Given the description of an element on the screen output the (x, y) to click on. 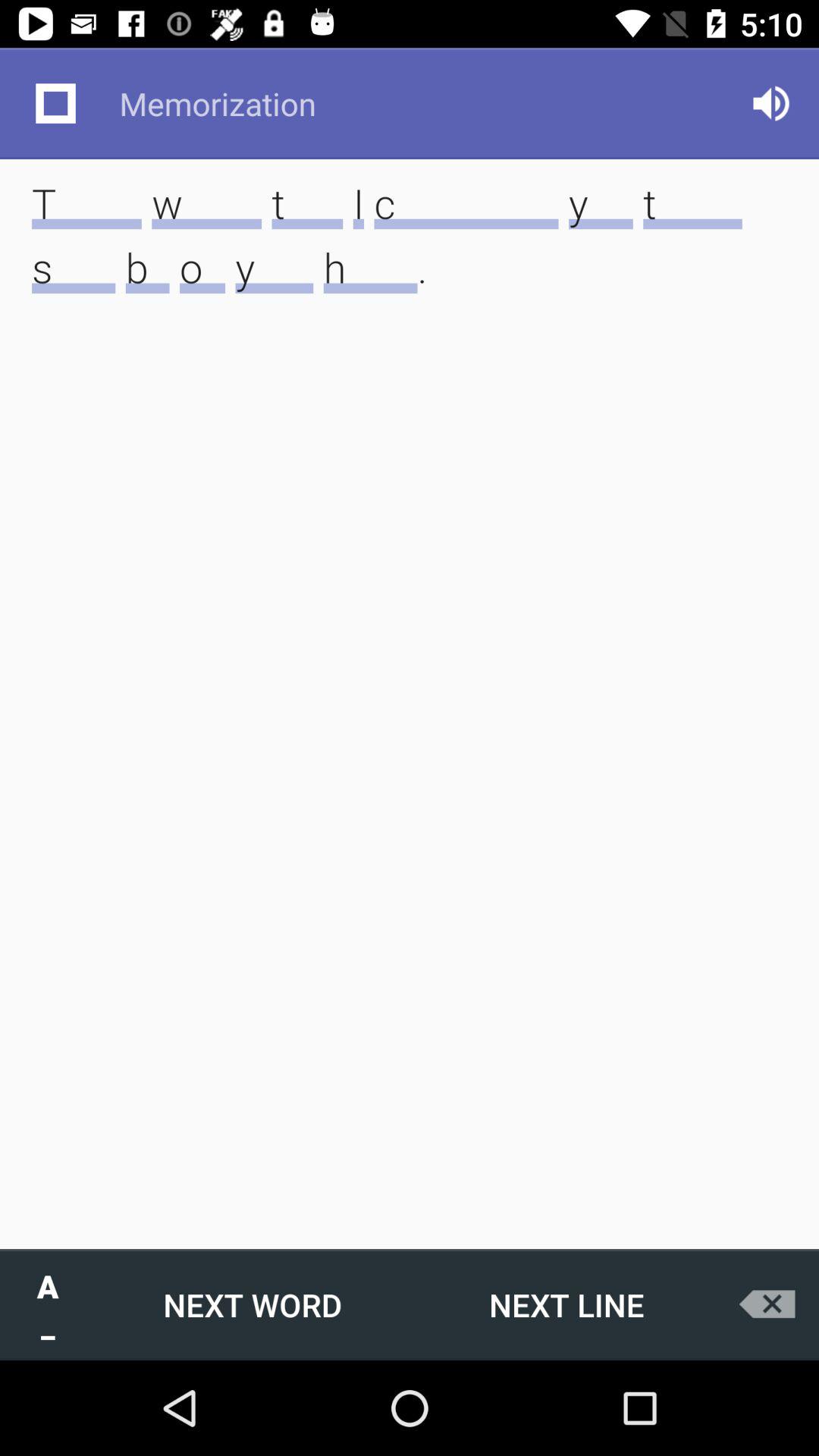
open icon above the these words that item (55, 103)
